Given the description of an element on the screen output the (x, y) to click on. 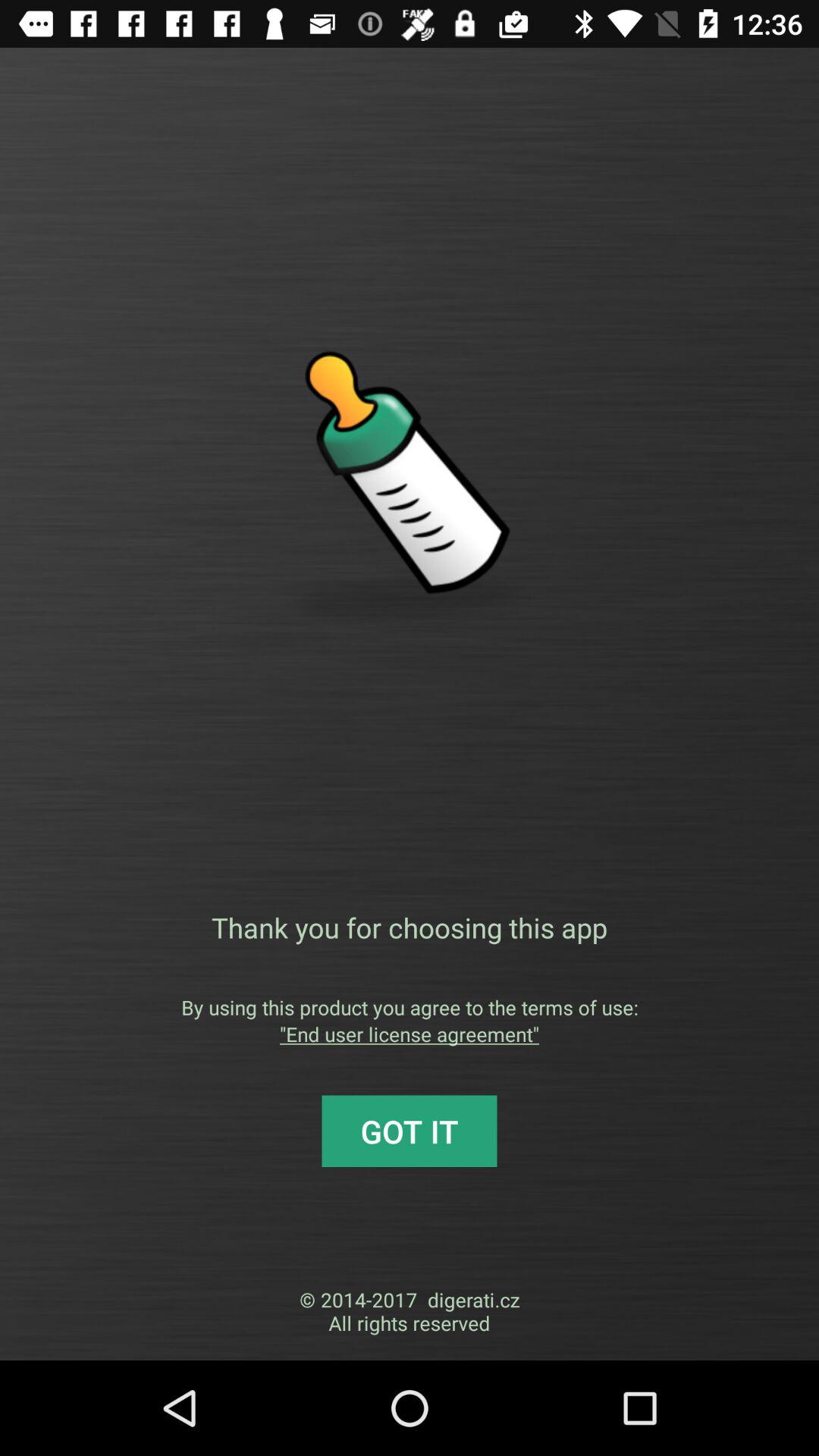
choose item above by using this item (409, 927)
